Given the description of an element on the screen output the (x, y) to click on. 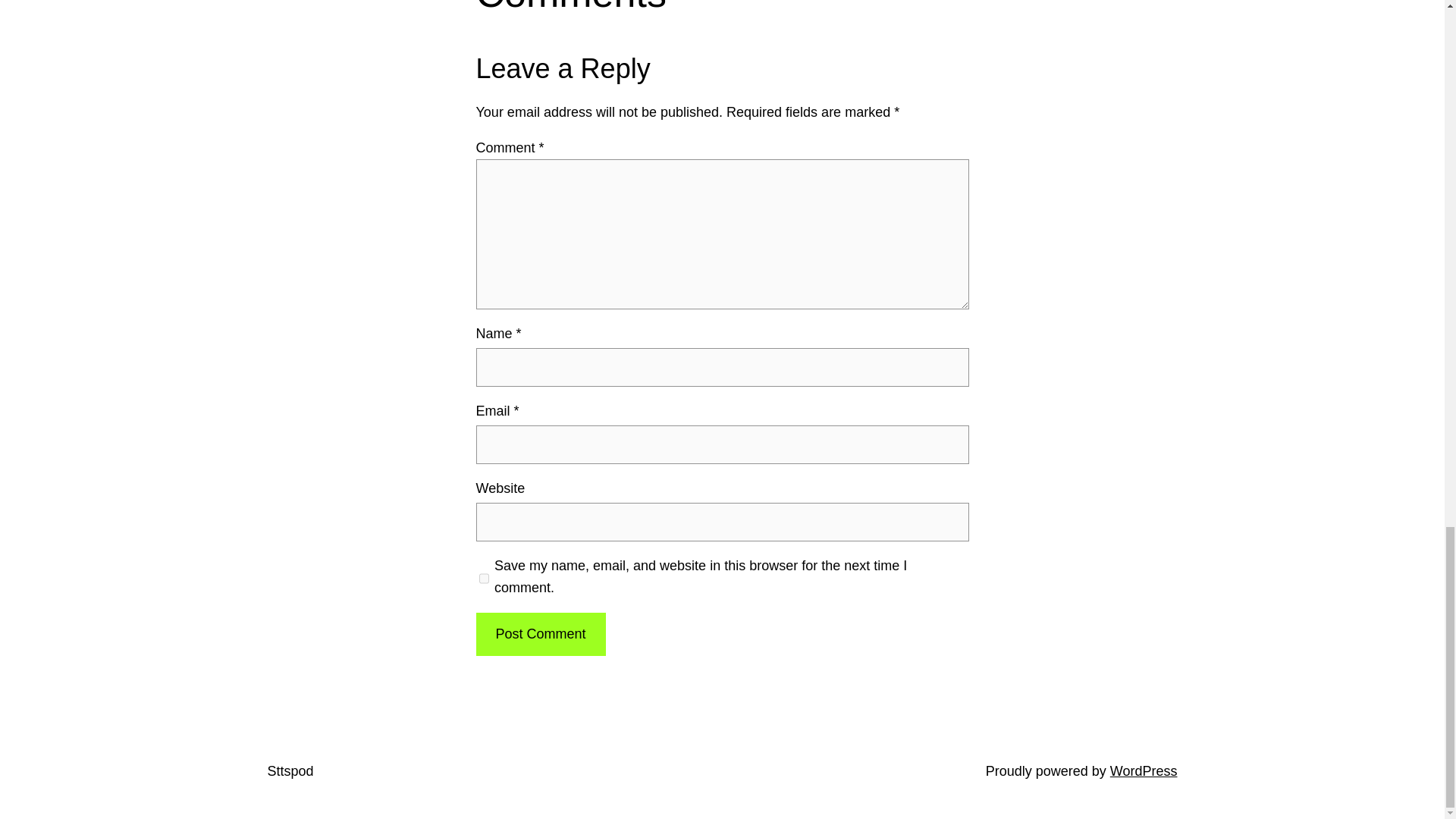
Post Comment (540, 634)
Sttspod (289, 770)
WordPress (1143, 770)
Post Comment (540, 634)
